Given the description of an element on the screen output the (x, y) to click on. 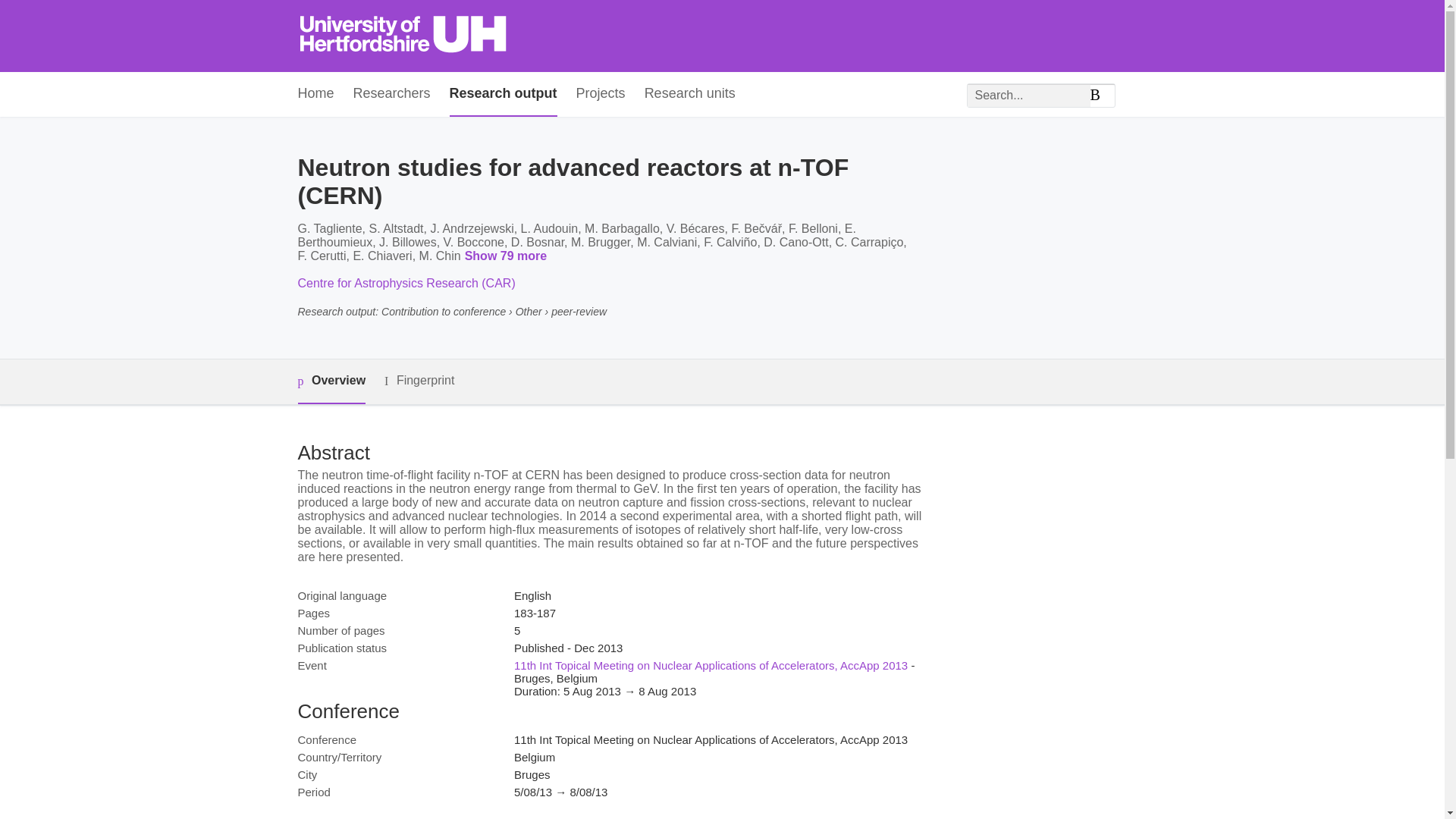
Show 79 more (508, 256)
Research output (503, 94)
Research units (690, 94)
Fingerprint (419, 380)
Overview (331, 381)
Researchers (391, 94)
Projects (601, 94)
